Given the description of an element on the screen output the (x, y) to click on. 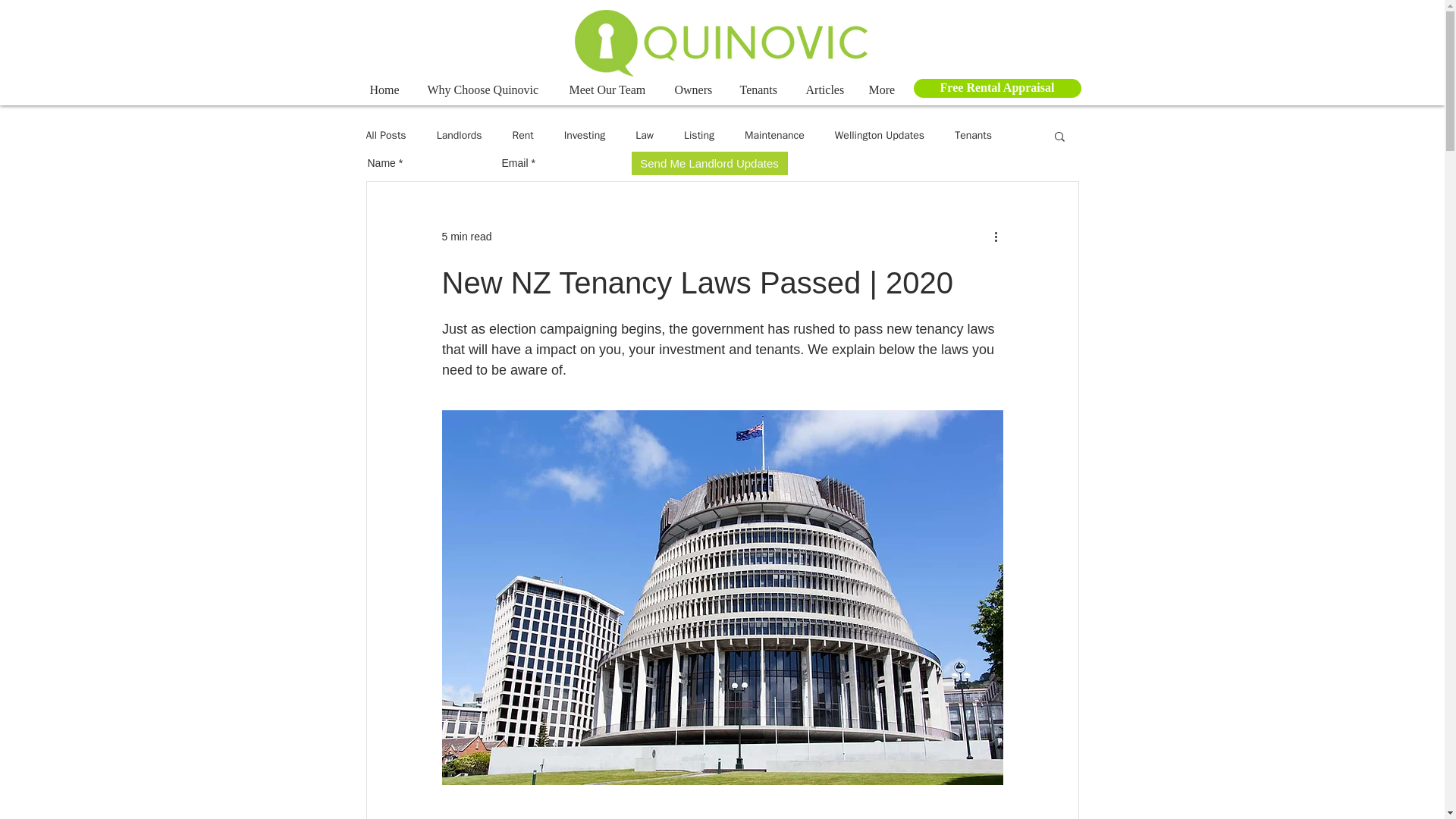
Home (386, 89)
Free Rental Appraisal (996, 87)
Meet Our Team (610, 89)
Owners (695, 89)
Tenants (973, 135)
Why Choose Quinovic (485, 89)
Articles (825, 89)
Rent (522, 135)
Tenants (760, 89)
Landlords (458, 135)
